Given the description of an element on the screen output the (x, y) to click on. 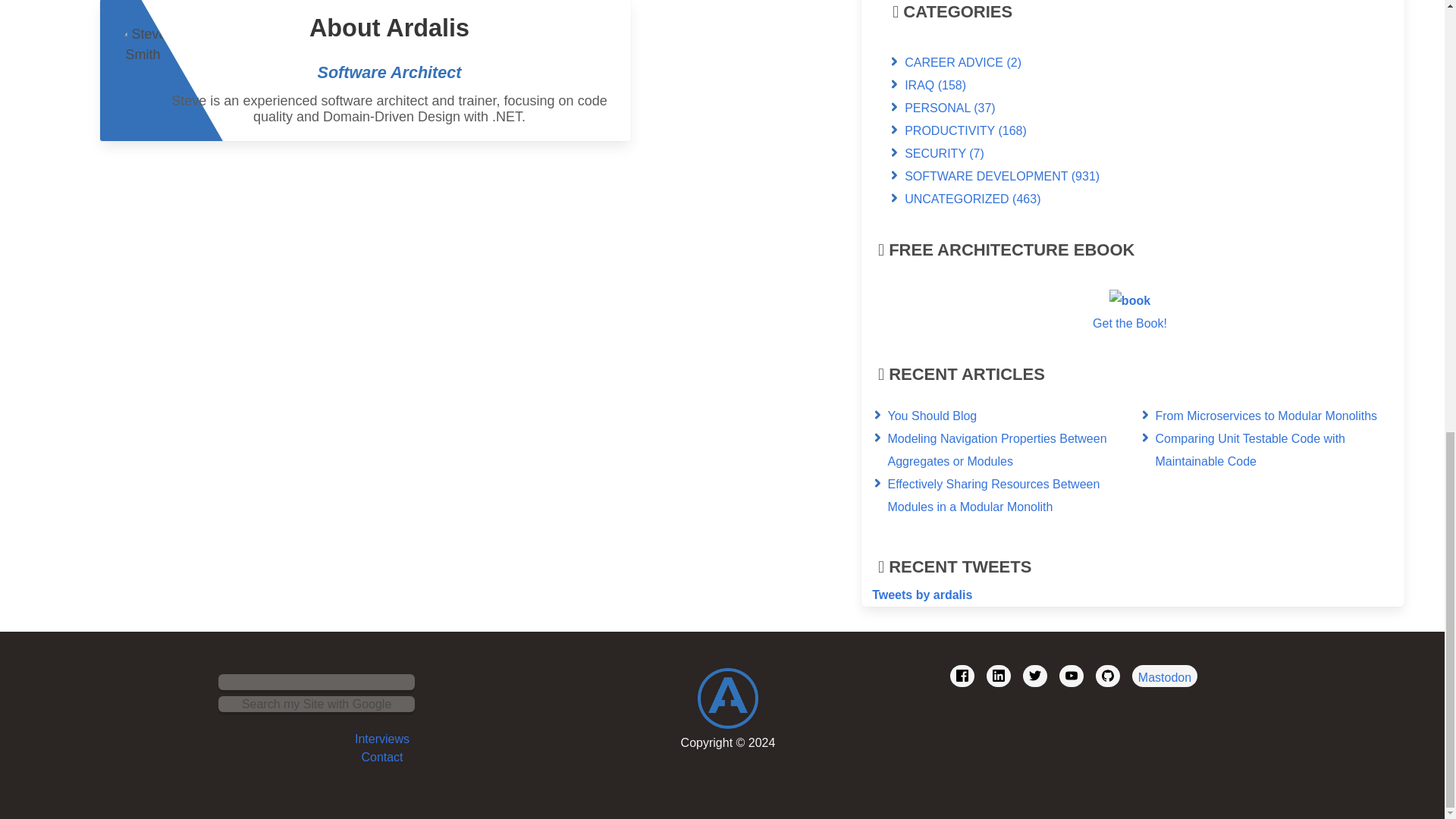
linkedin (998, 676)
mastodon (1164, 676)
twitter (1034, 676)
Search my Site with Google (316, 703)
facebook (962, 676)
github (1107, 676)
youtube (1071, 676)
